Given the description of an element on the screen output the (x, y) to click on. 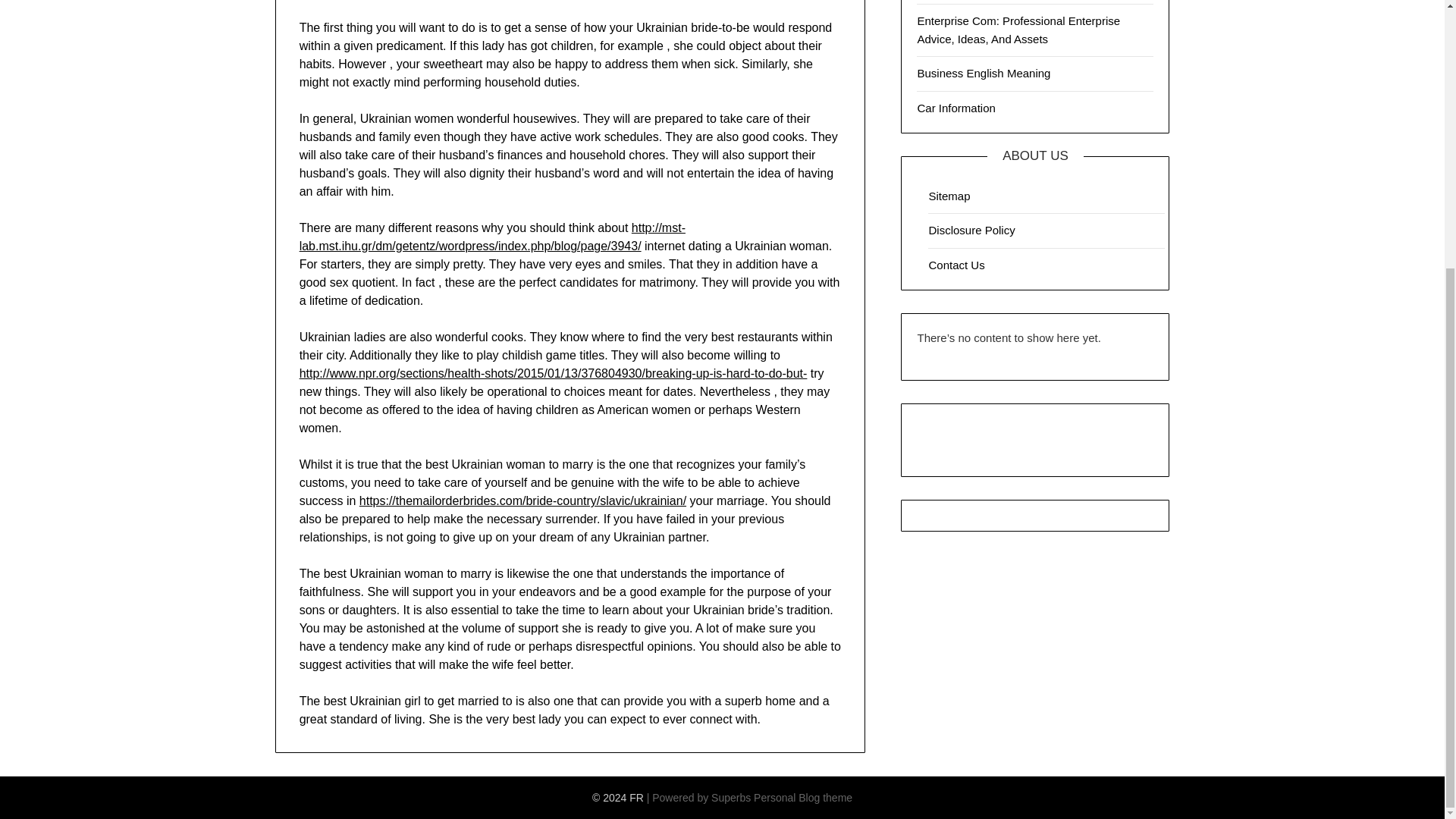
Business English Meaning (983, 72)
Car Information (955, 107)
Sitemap (948, 195)
Contact Us (956, 264)
Disclosure Policy (971, 229)
Personal Blog theme (802, 797)
